Given the description of an element on the screen output the (x, y) to click on. 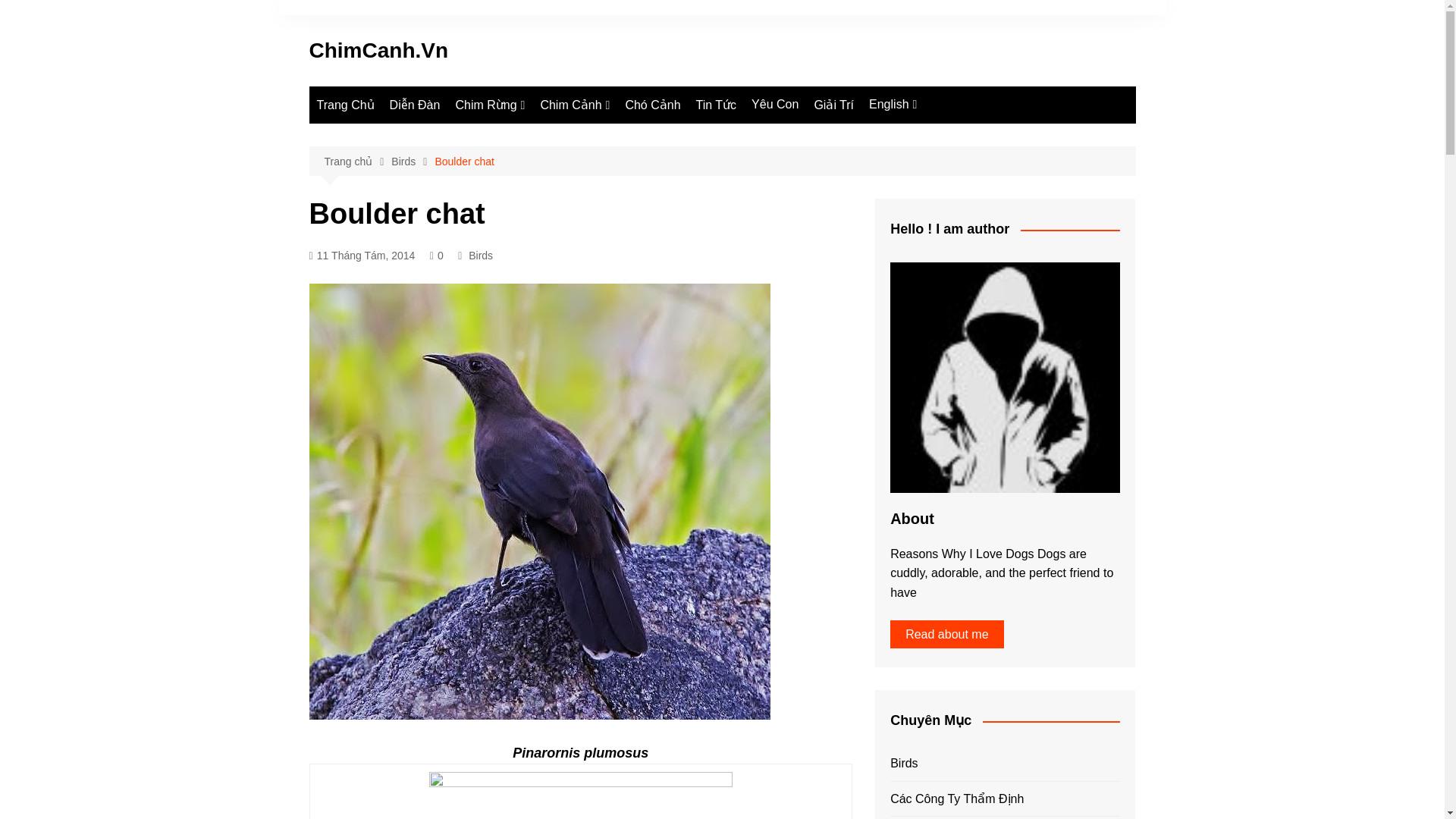
Boulder chat (464, 161)
Love Dog (944, 135)
ChimCanh.Vn (378, 50)
Birds (412, 161)
Finch (615, 135)
English (892, 104)
Birds (944, 160)
